Given the description of an element on the screen output the (x, y) to click on. 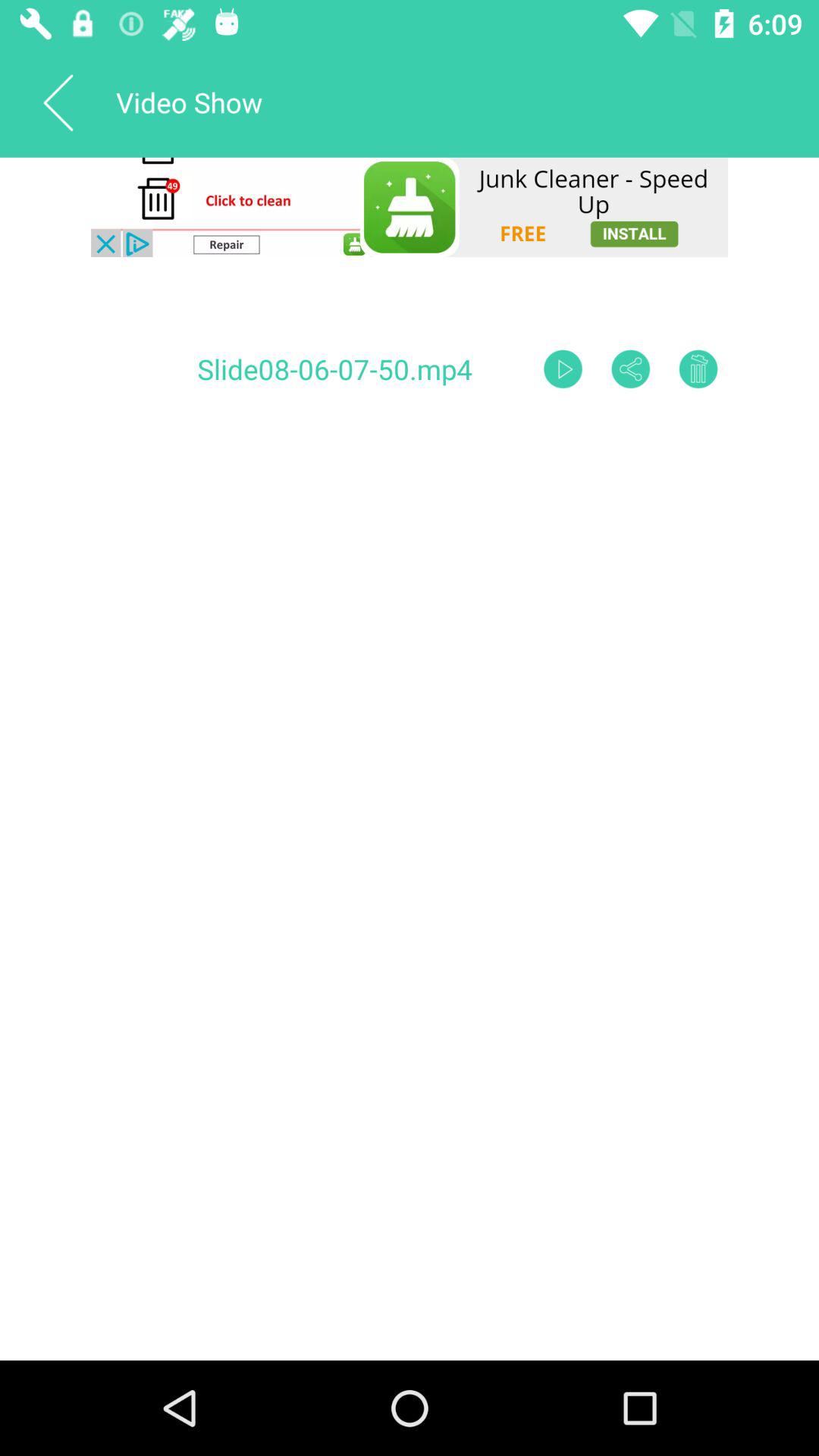
go to back arrow option (57, 102)
